Given the description of an element on the screen output the (x, y) to click on. 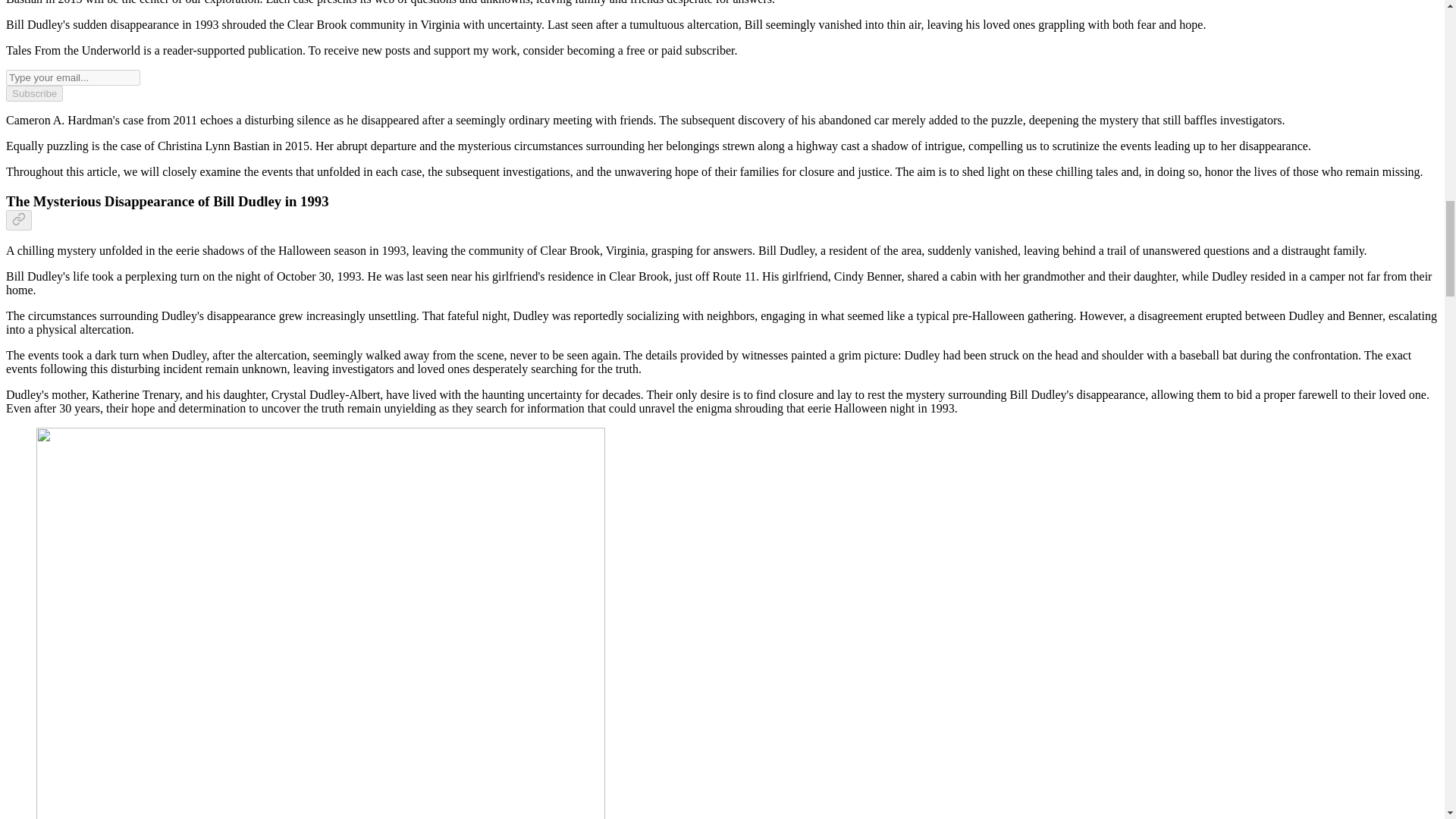
Subscribe (33, 93)
